Given the description of an element on the screen output the (x, y) to click on. 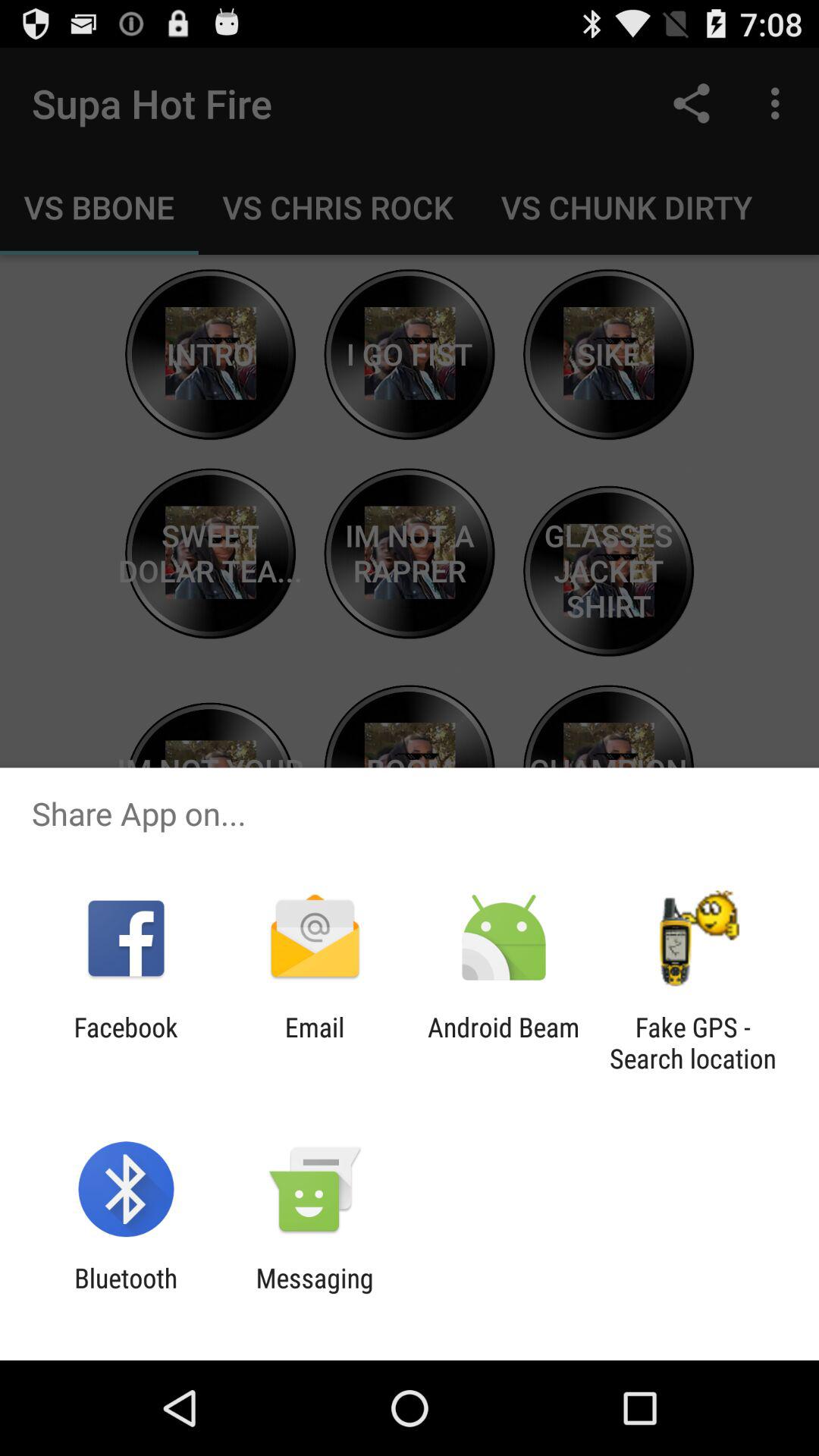
open the app to the right of the android beam item (692, 1042)
